Given the description of an element on the screen output the (x, y) to click on. 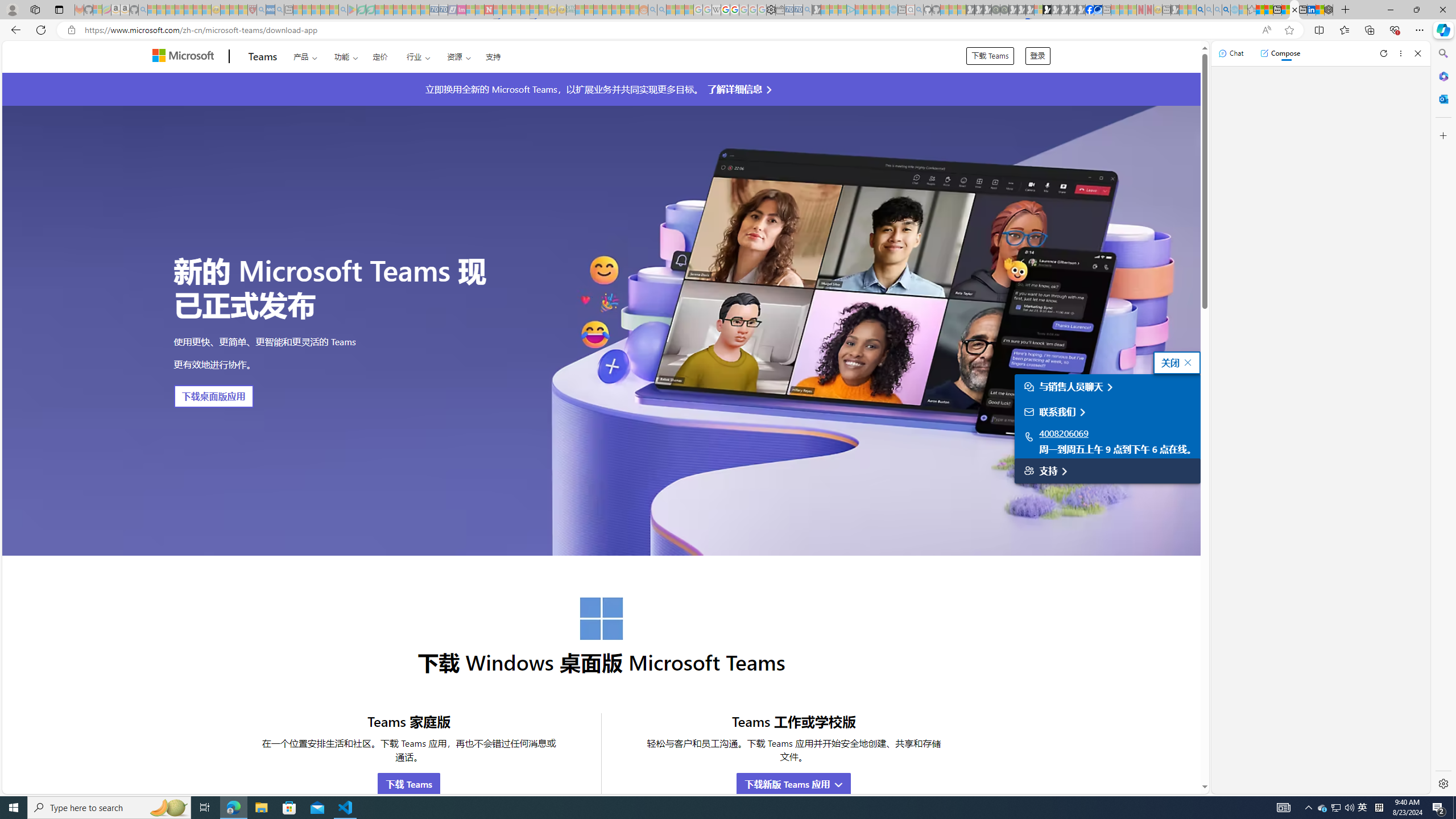
Bing AI - Search (1200, 9)
Google Chrome Internet Browser Download - Search Images (1225, 9)
